Given the description of an element on the screen output the (x, y) to click on. 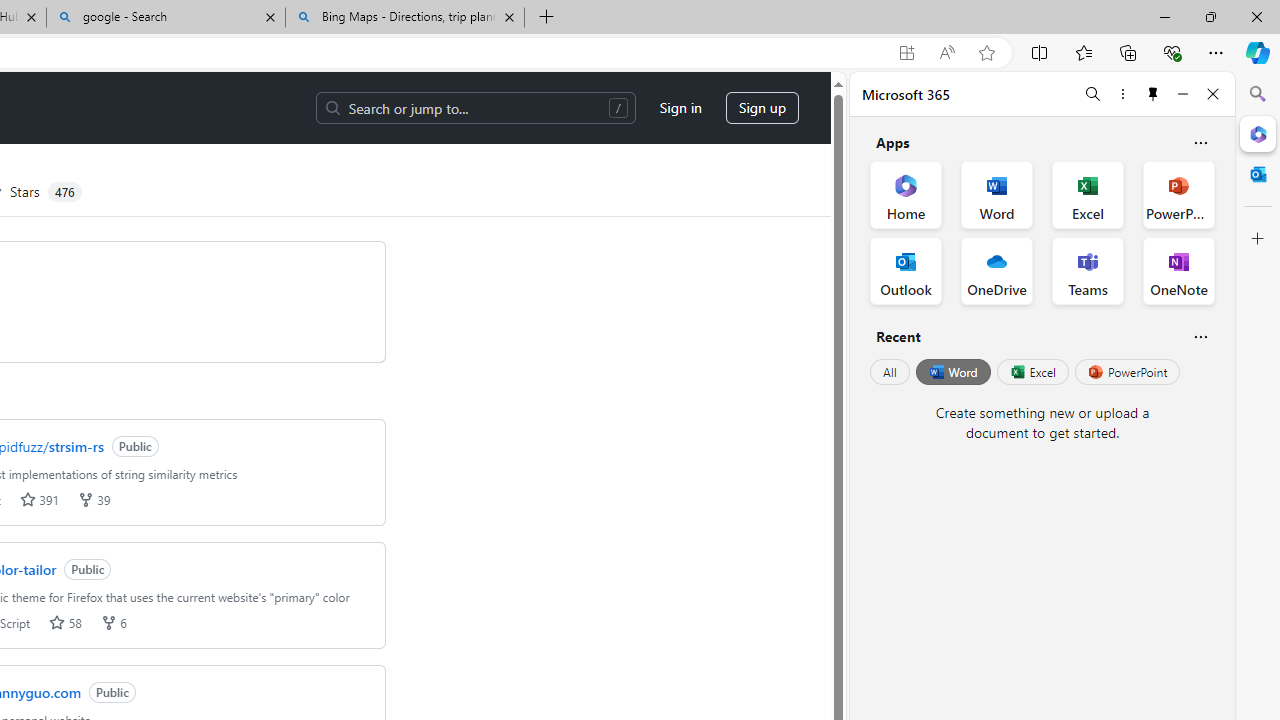
forks 39 (94, 499)
OneDrive Office App (996, 270)
App available. Install GitHub (906, 53)
Excel (1031, 372)
google - Search (166, 17)
stars (57, 622)
OneNote Office App (1178, 270)
forks (107, 622)
